Given the description of an element on the screen output the (x, y) to click on. 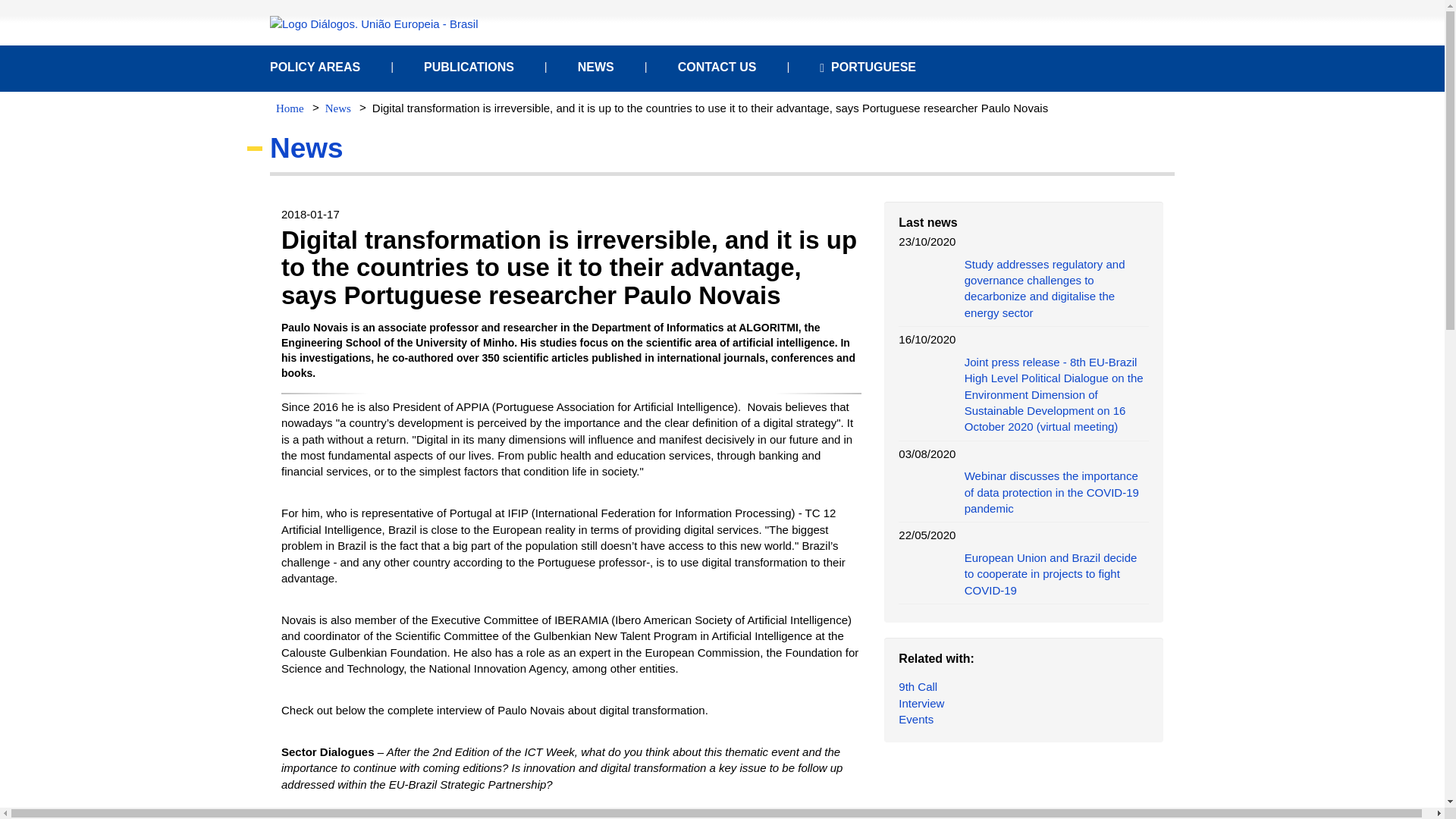
 PORTUGUESE (867, 67)
News (337, 108)
Interview (920, 703)
PUBLICATIONS (468, 67)
Home (290, 108)
9th Call (917, 686)
CONTACT US (717, 67)
NEWS (596, 67)
POLICY AREAS (314, 67)
Events (915, 718)
